Given the description of an element on the screen output the (x, y) to click on. 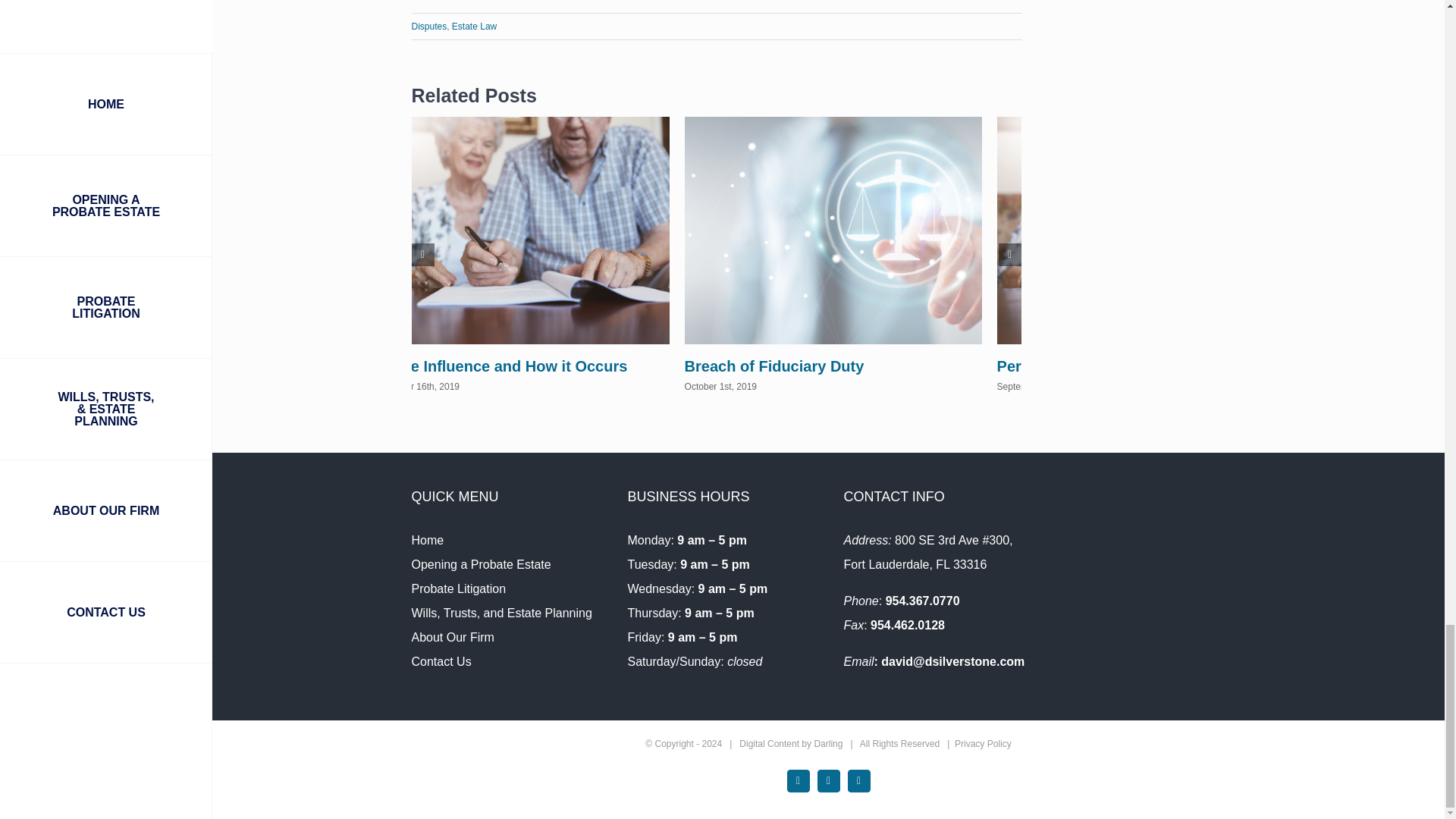
Breach of Fiduciary Duty (774, 365)
Per Stirpes vs Per Capita Florida (1114, 365)
Undue Influence and How it Occurs (499, 365)
